Given the description of an element on the screen output the (x, y) to click on. 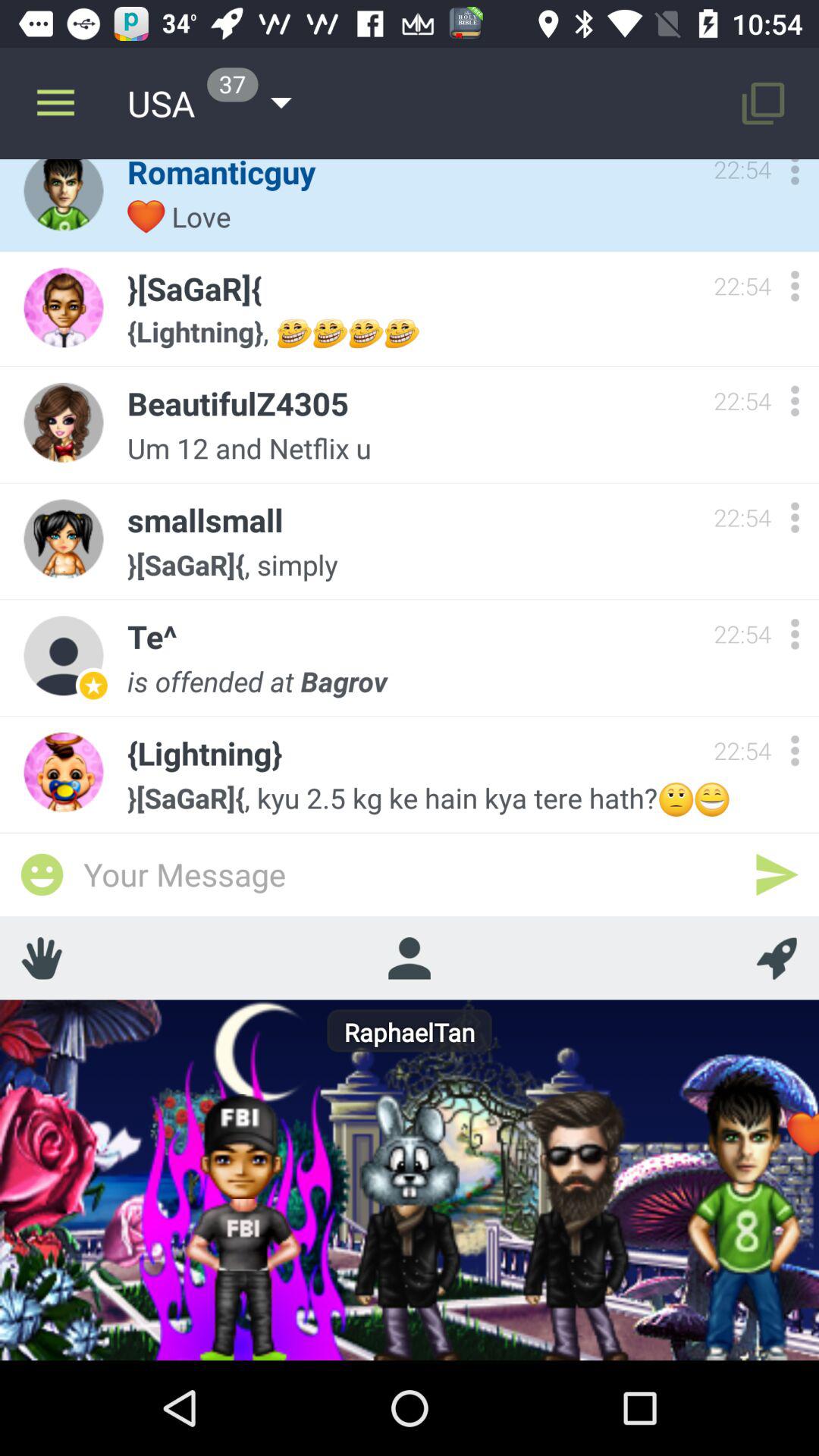
go to next bar (777, 874)
